Given the description of an element on the screen output the (x, y) to click on. 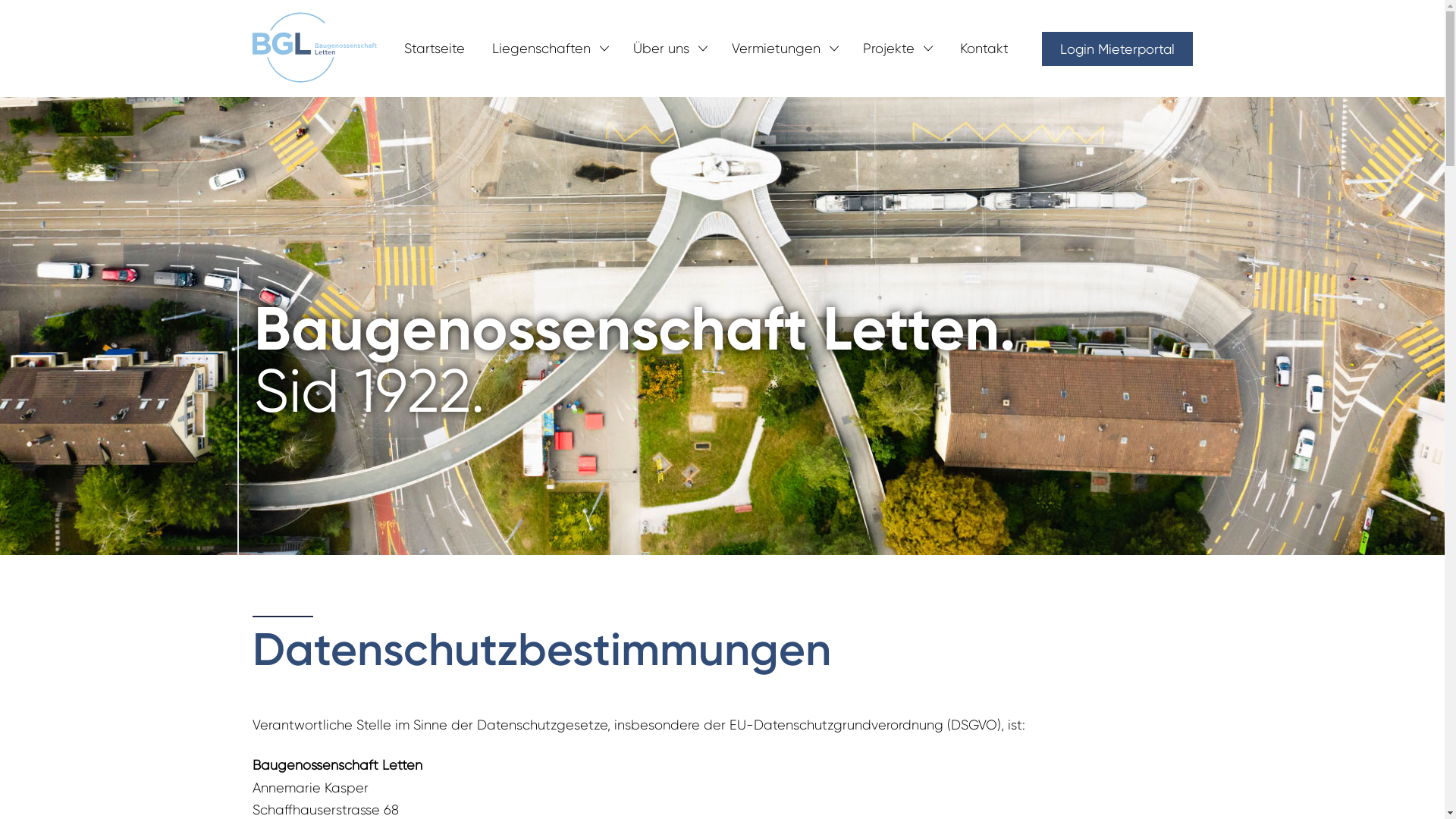
Vermietungen Element type: text (775, 47)
Login Mieterportal Element type: text (1116, 48)
Projekte Element type: text (888, 47)
Kontakt Element type: text (984, 48)
Startseite Element type: text (433, 48)
Liegenschaften Element type: text (540, 47)
